Given the description of an element on the screen output the (x, y) to click on. 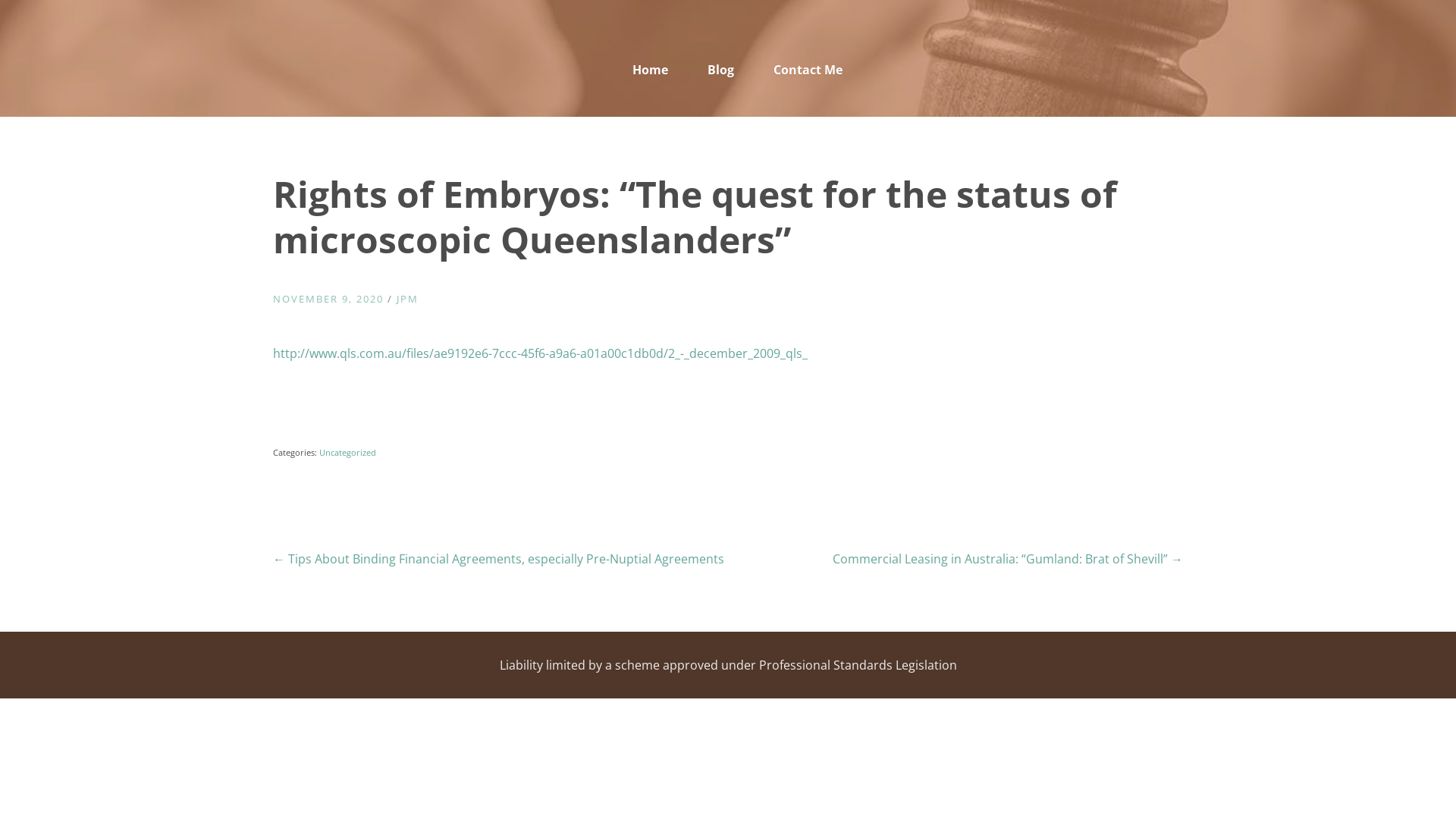
Home Element type: text (650, 70)
Contact Me Element type: text (798, 70)
Blog Element type: text (719, 70)
JPM Element type: text (407, 298)
NOVEMBER 9, 2020 Element type: text (328, 298)
Uncategorized Element type: text (347, 452)
